Given the description of an element on the screen output the (x, y) to click on. 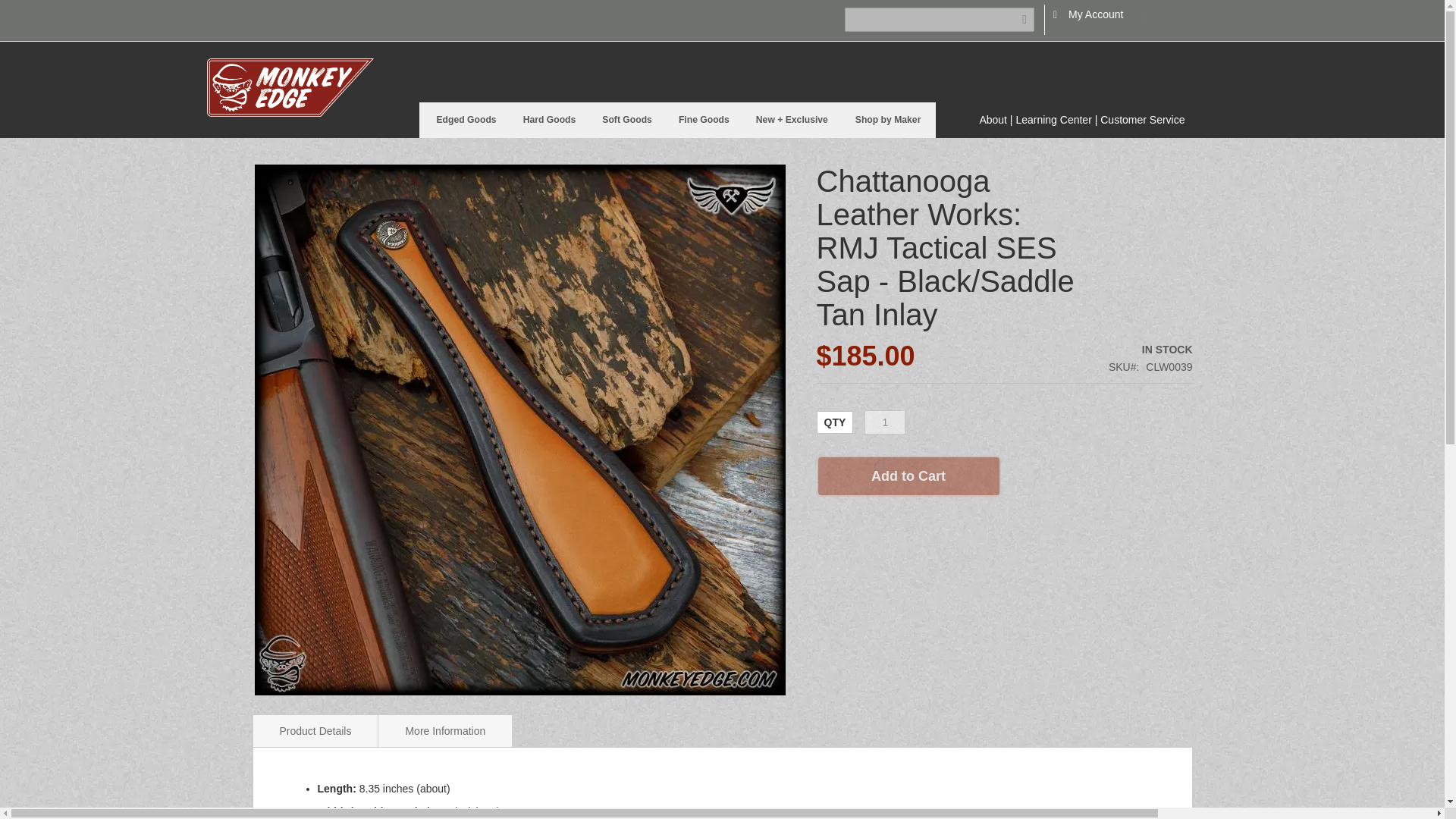
Monkey Edge (289, 87)
Hard Goods (551, 120)
My Account (1095, 14)
Edged Goods (468, 120)
1 (884, 422)
